Given the description of an element on the screen output the (x, y) to click on. 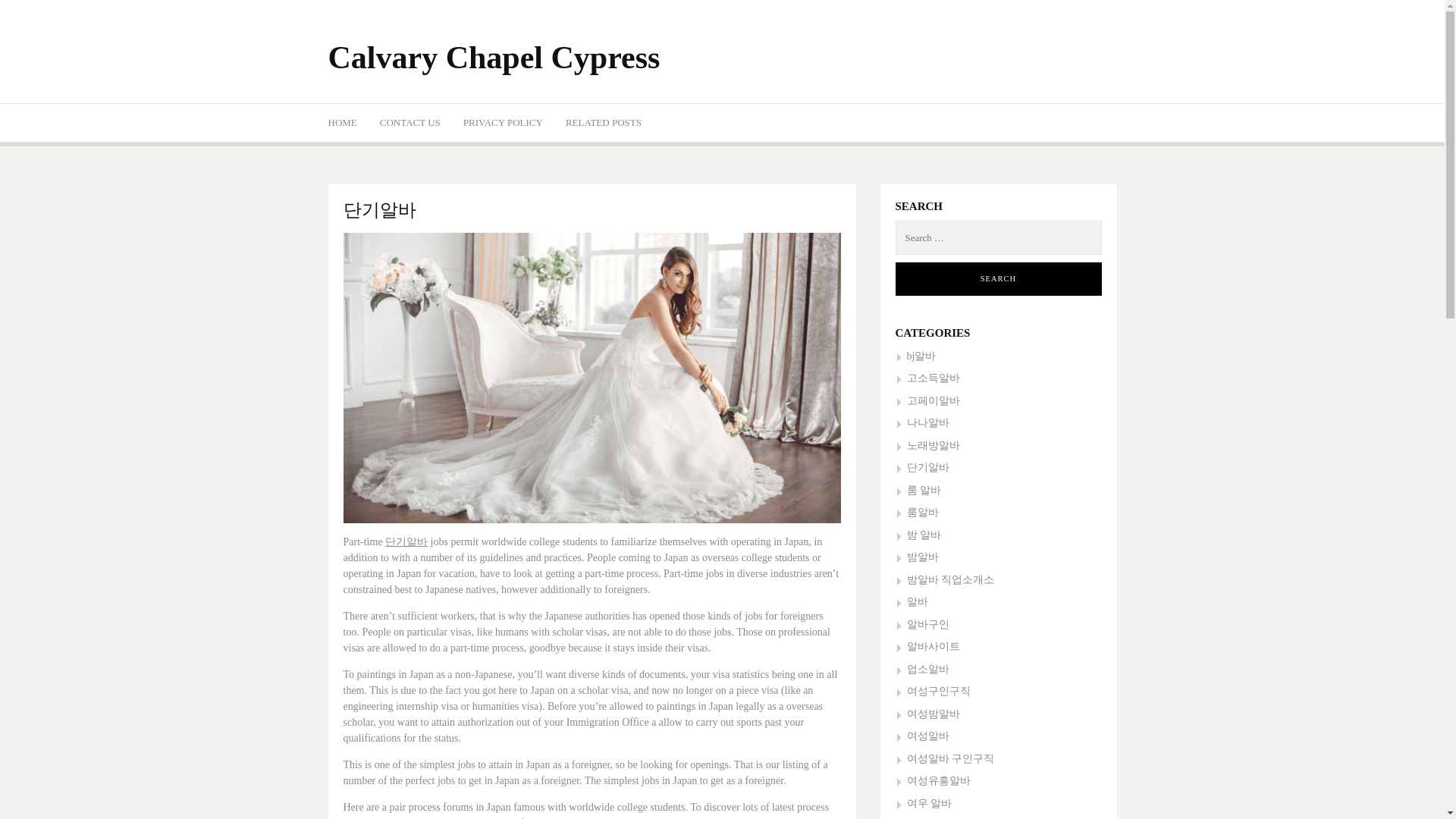
Search (997, 278)
PRIVACY POLICY (503, 122)
Search (997, 278)
CONTACT US (410, 122)
RELATED POSTS (604, 122)
Search (997, 278)
Calvary Chapel Cypress (493, 57)
